Given the description of an element on the screen output the (x, y) to click on. 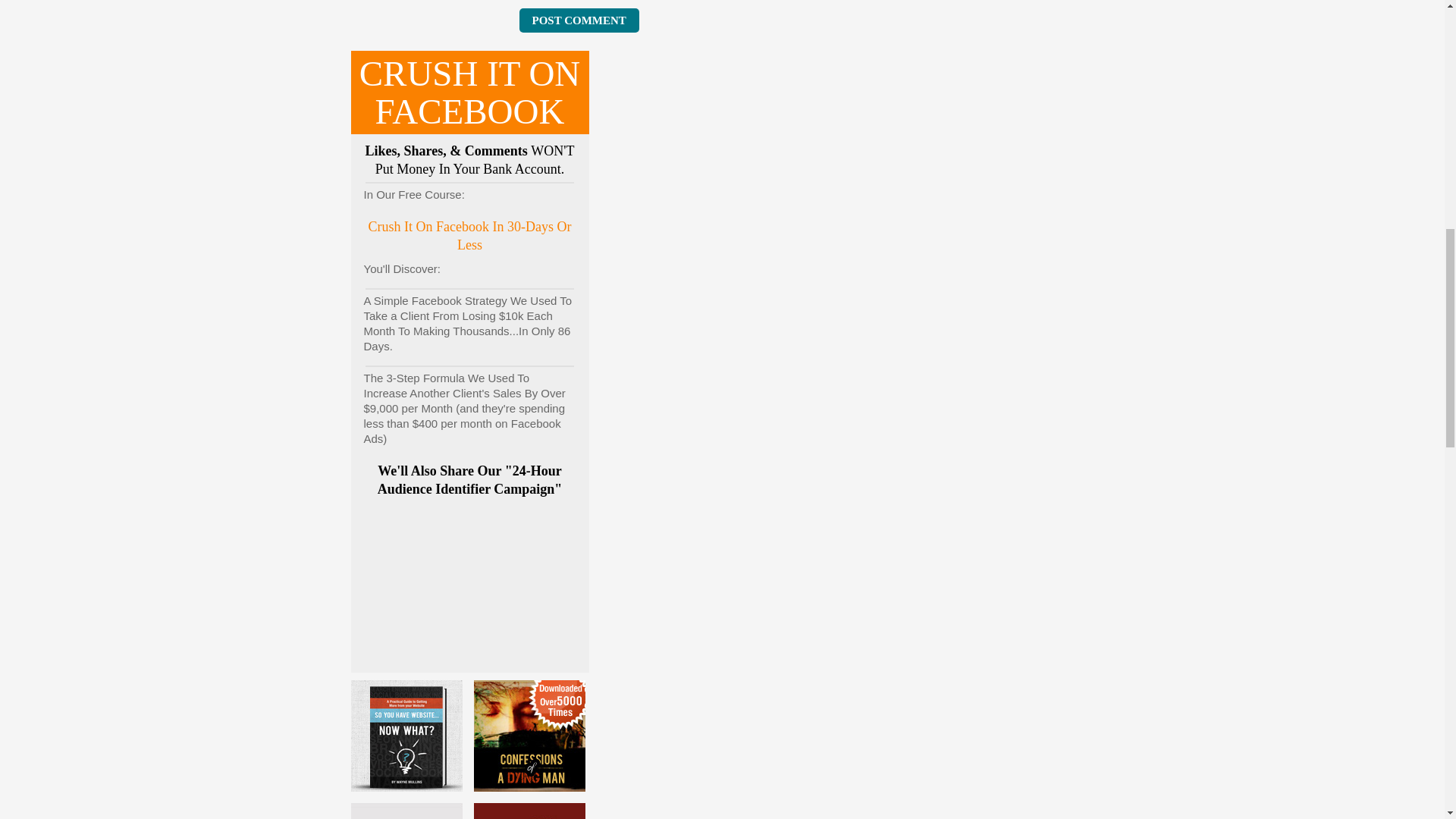
Post Comment (578, 20)
Post Comment (578, 20)
